Given the description of an element on the screen output the (x, y) to click on. 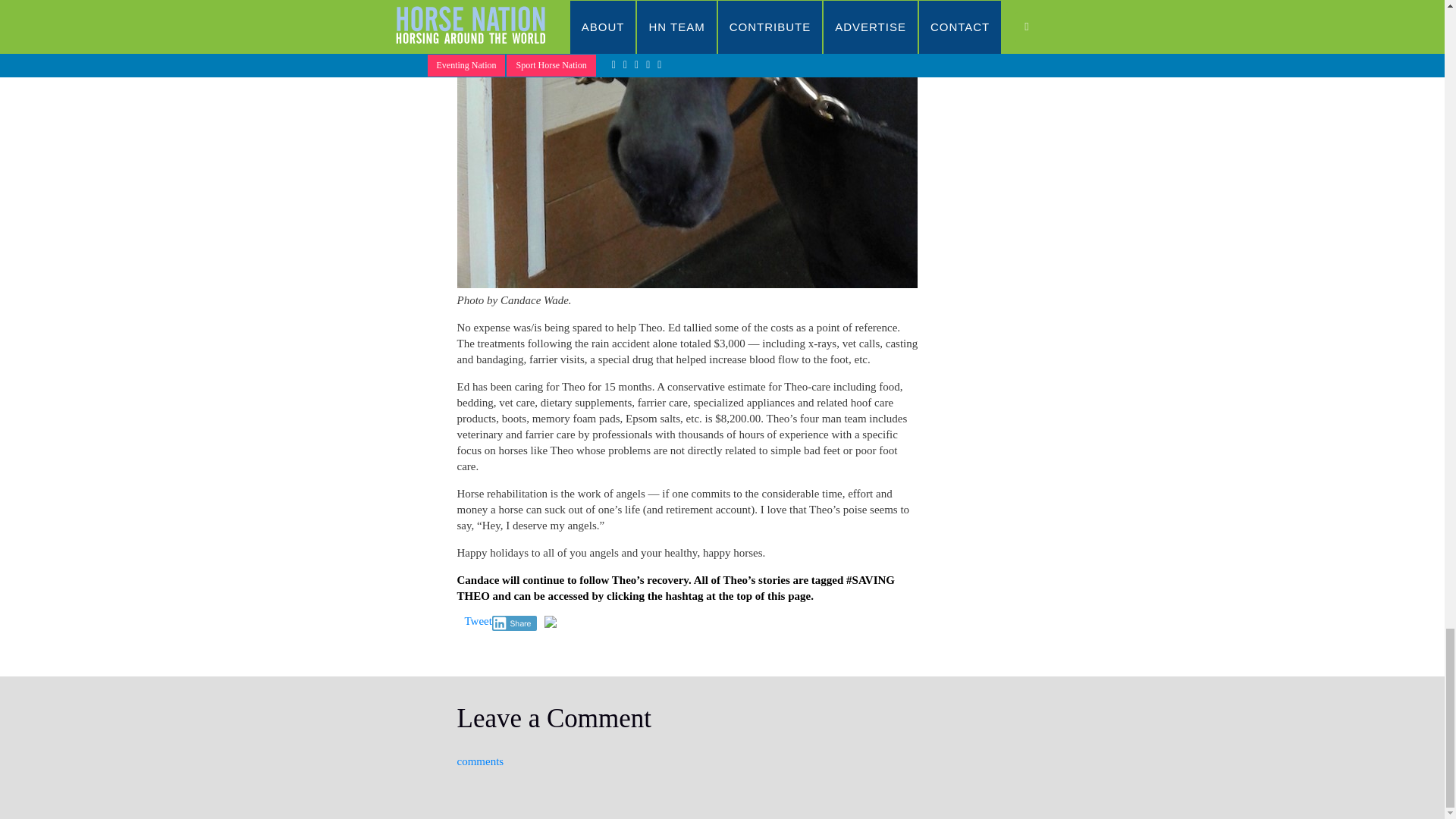
Tweet (478, 621)
Share (514, 622)
